Given the description of an element on the screen output the (x, y) to click on. 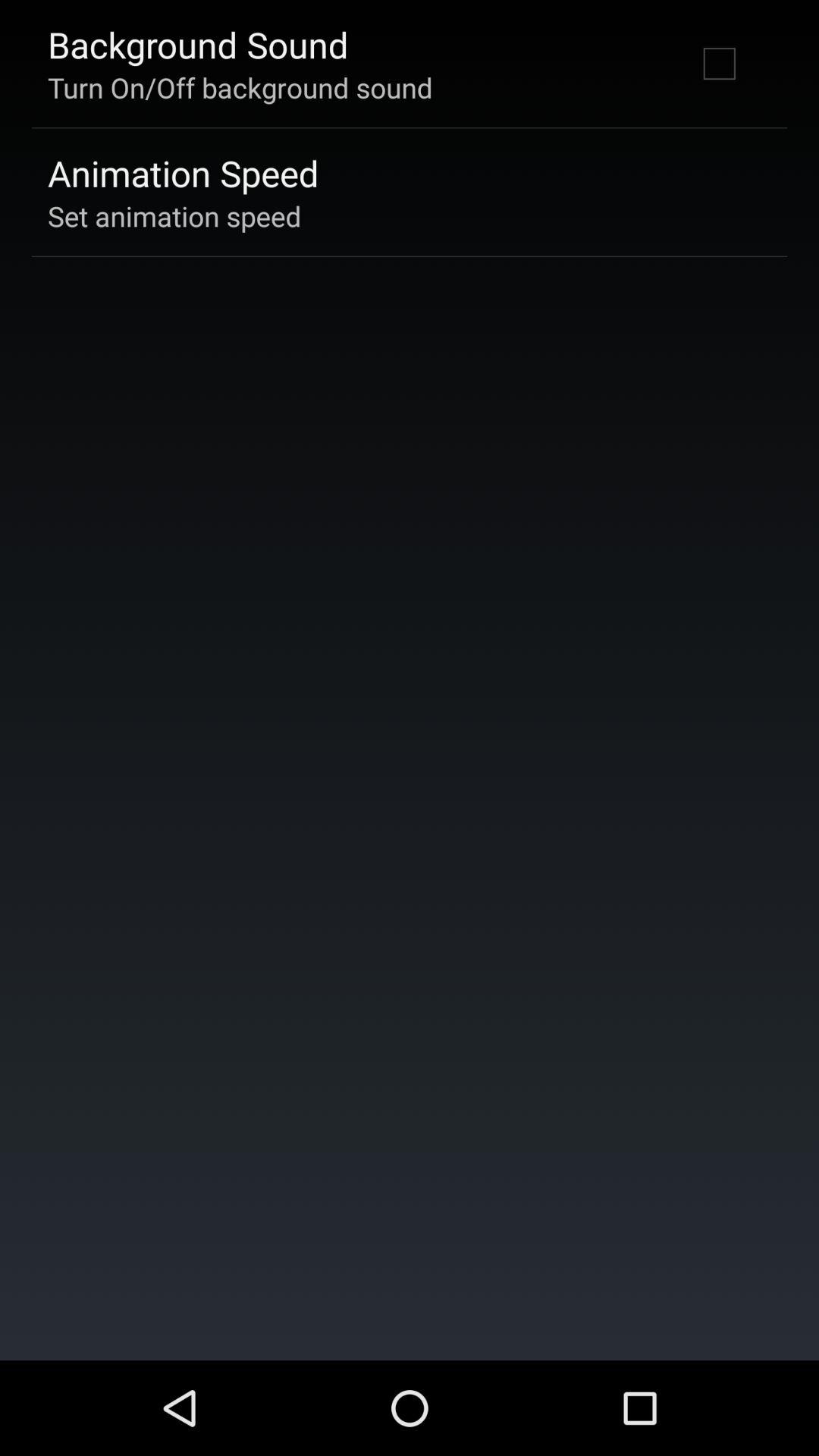
turn off the icon below background sound item (239, 87)
